Given the description of an element on the screen output the (x, y) to click on. 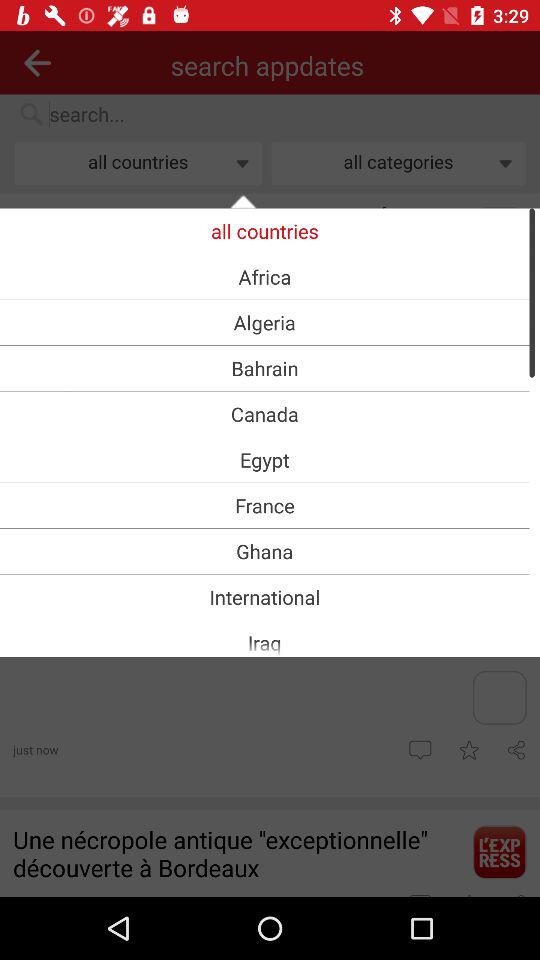
jump to africa item (264, 276)
